Given the description of an element on the screen output the (x, y) to click on. 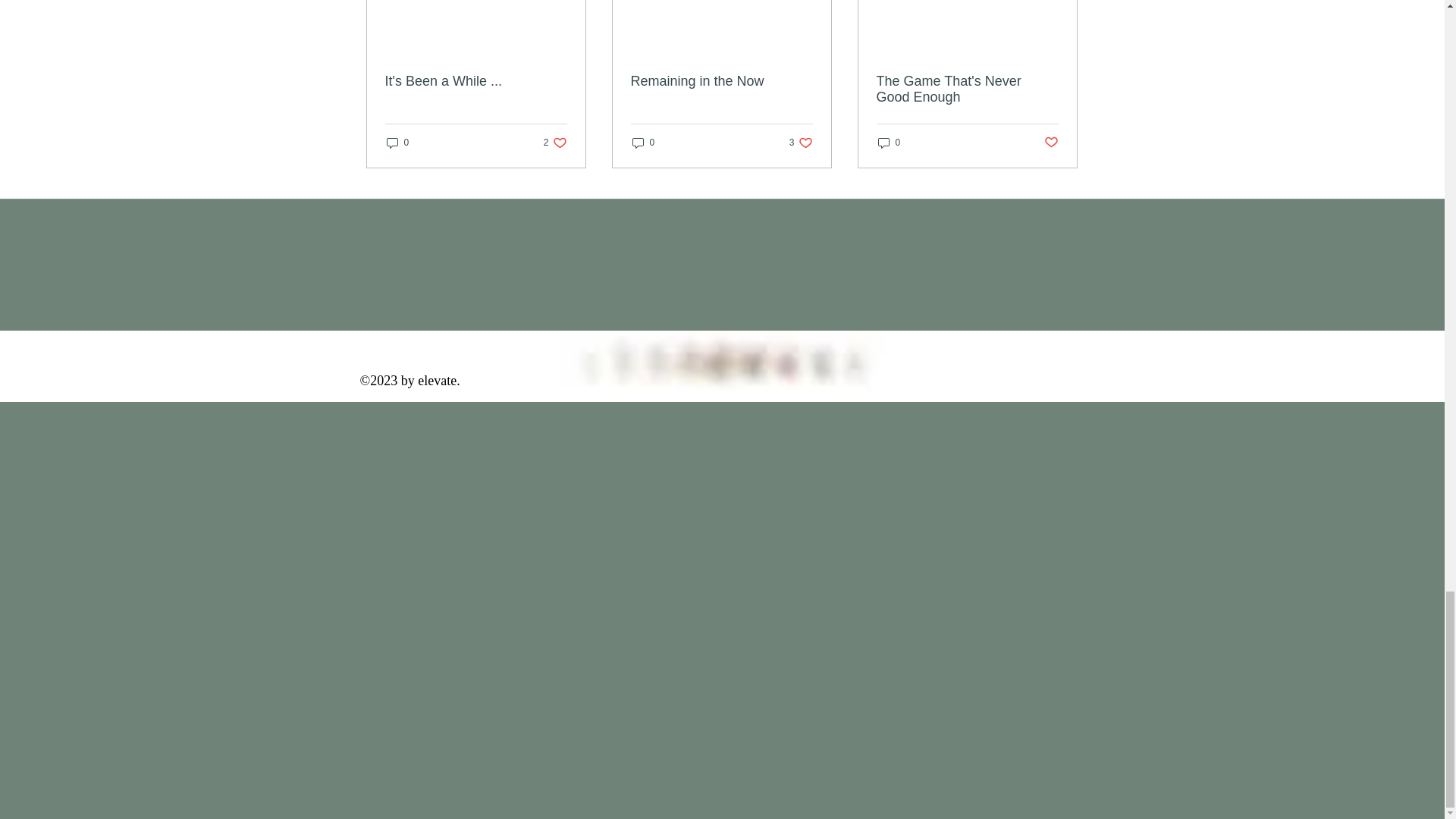
0 (889, 142)
Remaining in the Now (721, 81)
Post not marked as liked (555, 142)
0 (1050, 142)
The Game That's Never Good Enough (643, 142)
It's Been a While ... (967, 89)
0 (476, 81)
